Given the description of an element on the screen output the (x, y) to click on. 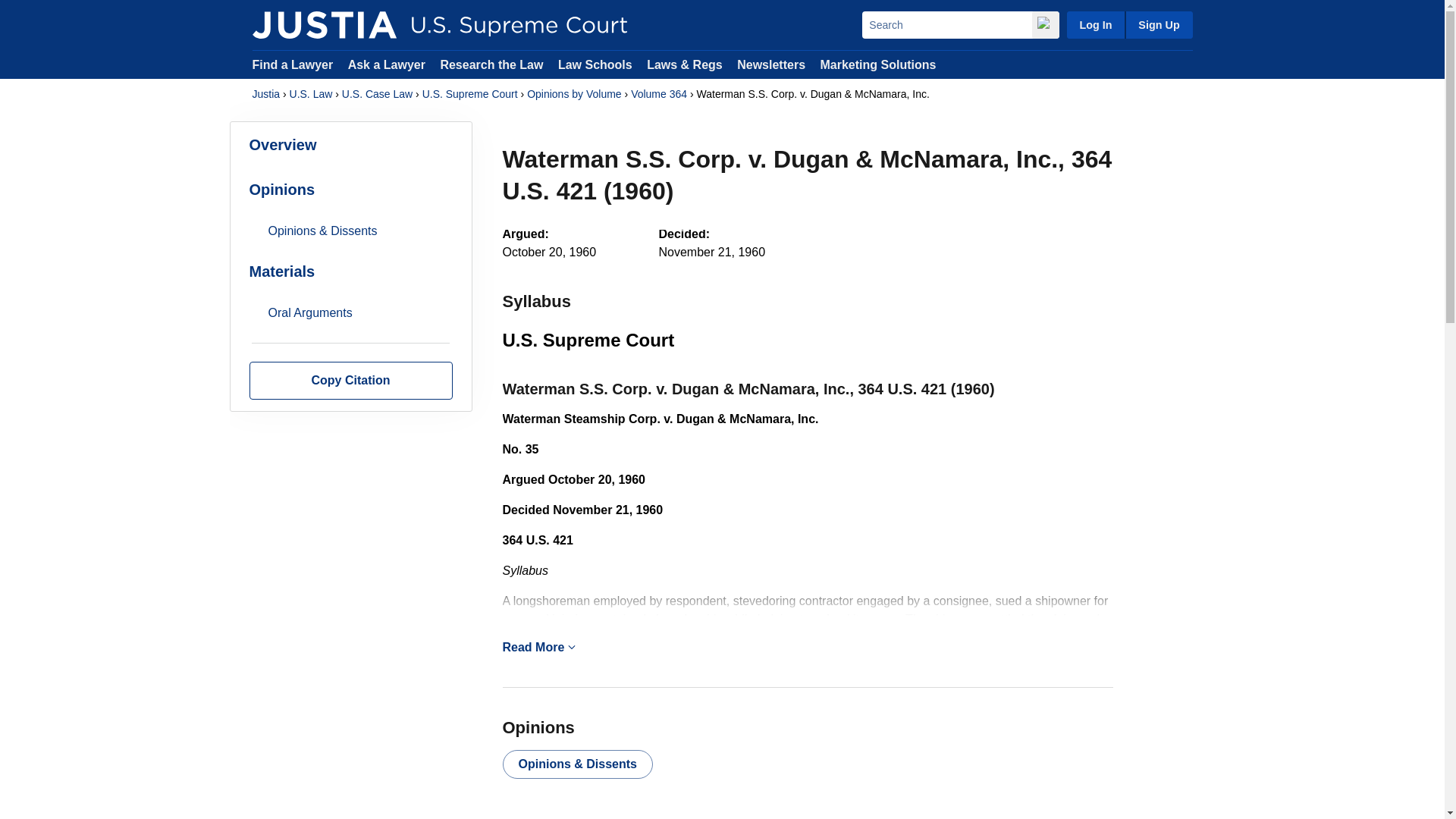
Marketing Solutions (877, 64)
Read More (807, 647)
U.S. Supreme Court (470, 93)
Search (945, 24)
Justia (265, 93)
Find a Lawyer (292, 64)
Volume 364 (658, 93)
Law Schools (594, 64)
Ask a Lawyer (388, 64)
U.S. Law (311, 93)
Newsletters (770, 64)
Opinions by Volume (574, 93)
Justia (323, 24)
U.S. Case Law (377, 93)
Sign Up (1158, 24)
